Given the description of an element on the screen output the (x, y) to click on. 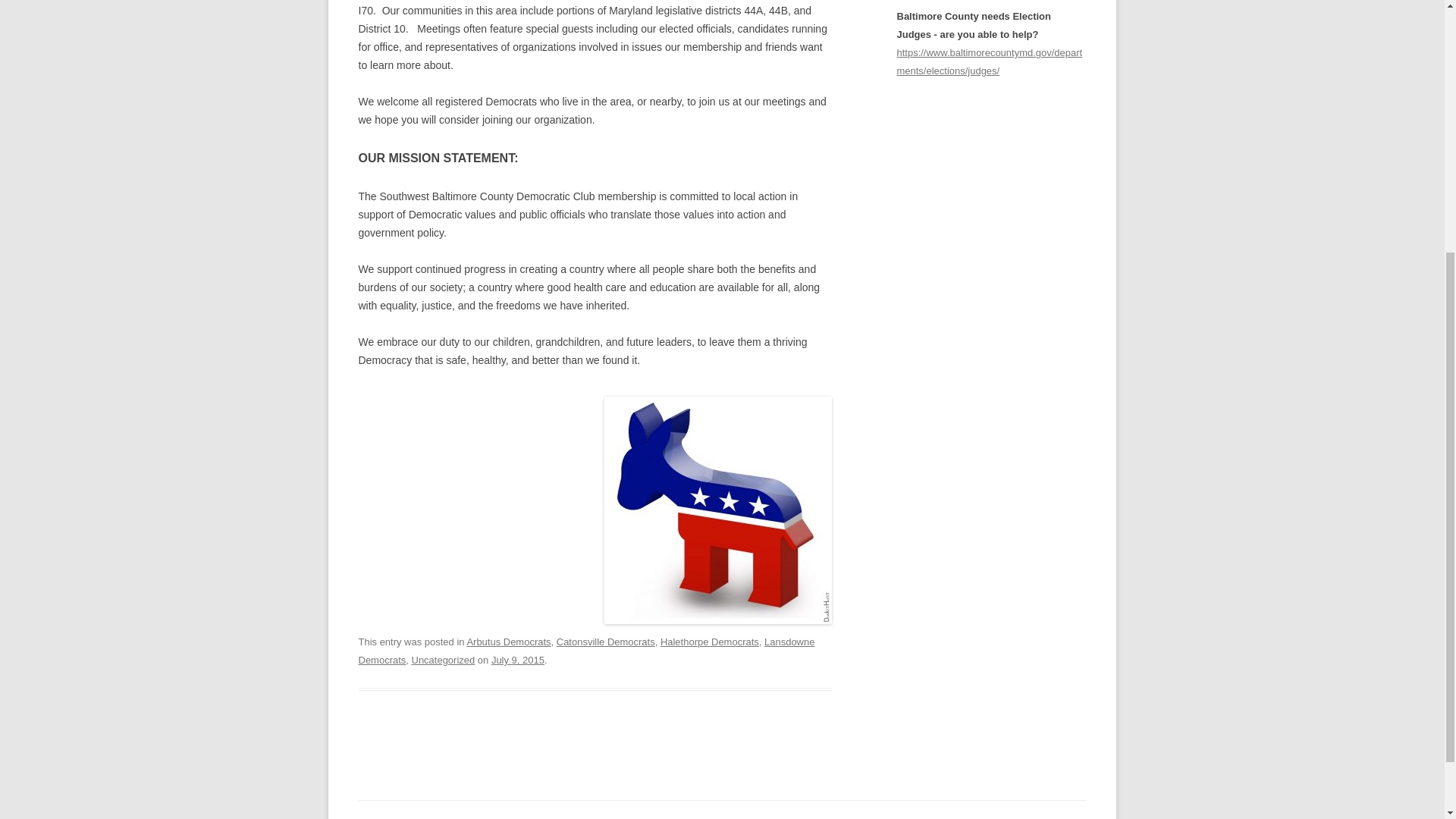
Catonsville Democrats (605, 641)
Lansdowne Democrats (585, 650)
6:59 pm (518, 659)
Halethorpe Democrats (709, 641)
July 9, 2015 (518, 659)
Uncategorized (442, 659)
Arbutus Democrats (507, 641)
